Given the description of an element on the screen output the (x, y) to click on. 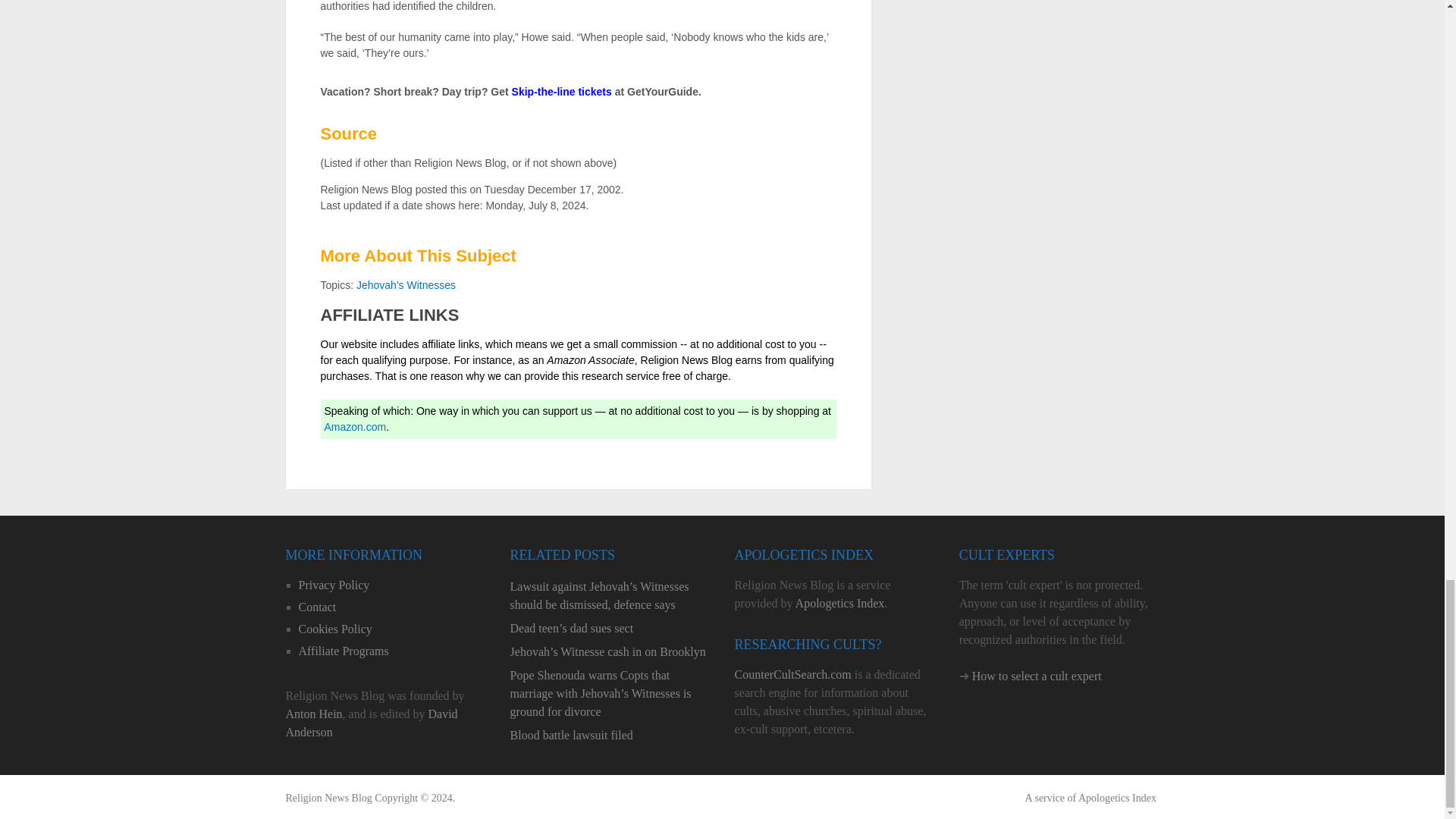
Contact (317, 606)
Blood battle lawsuit filed (610, 735)
Affiliate Programs (343, 650)
Cookies Policy (335, 628)
Skip-the-line tickets (561, 91)
Jehovah's Witnesses (405, 285)
Anton Hein (313, 713)
Amazon.com (355, 426)
 Religion news: religious cults, sects, and world religions (328, 797)
Privacy Policy (333, 584)
